Given the description of an element on the screen output the (x, y) to click on. 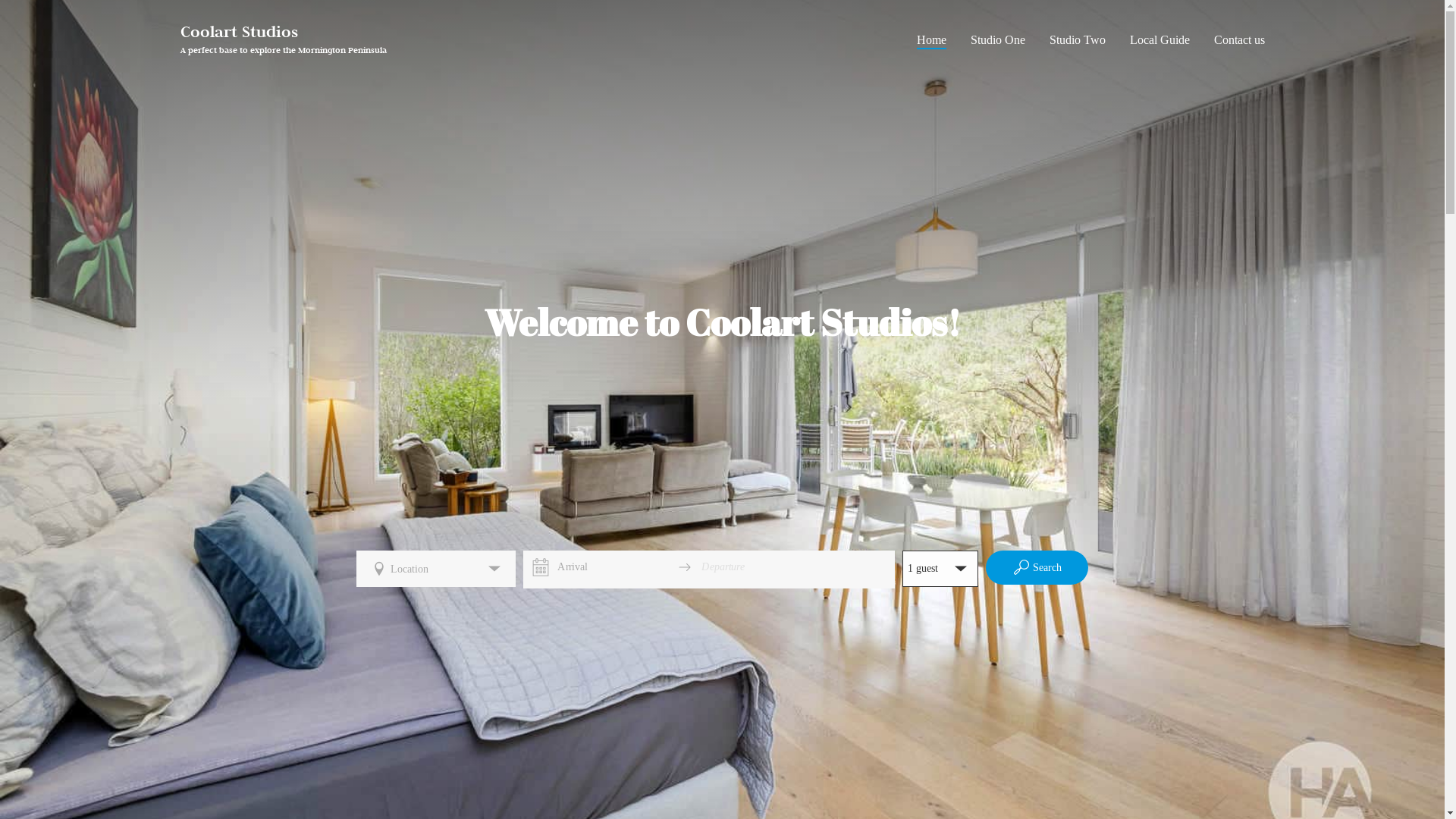
Search Element type: text (1036, 567)
Home Element type: text (930, 40)
Location Element type: text (435, 568)
Studio One Element type: text (997, 40)
Contact us Element type: text (1238, 40)
Studio Two Element type: text (1077, 40)
Local Guide Element type: text (1159, 40)
1 guest Element type: text (940, 568)
